Given the description of an element on the screen output the (x, y) to click on. 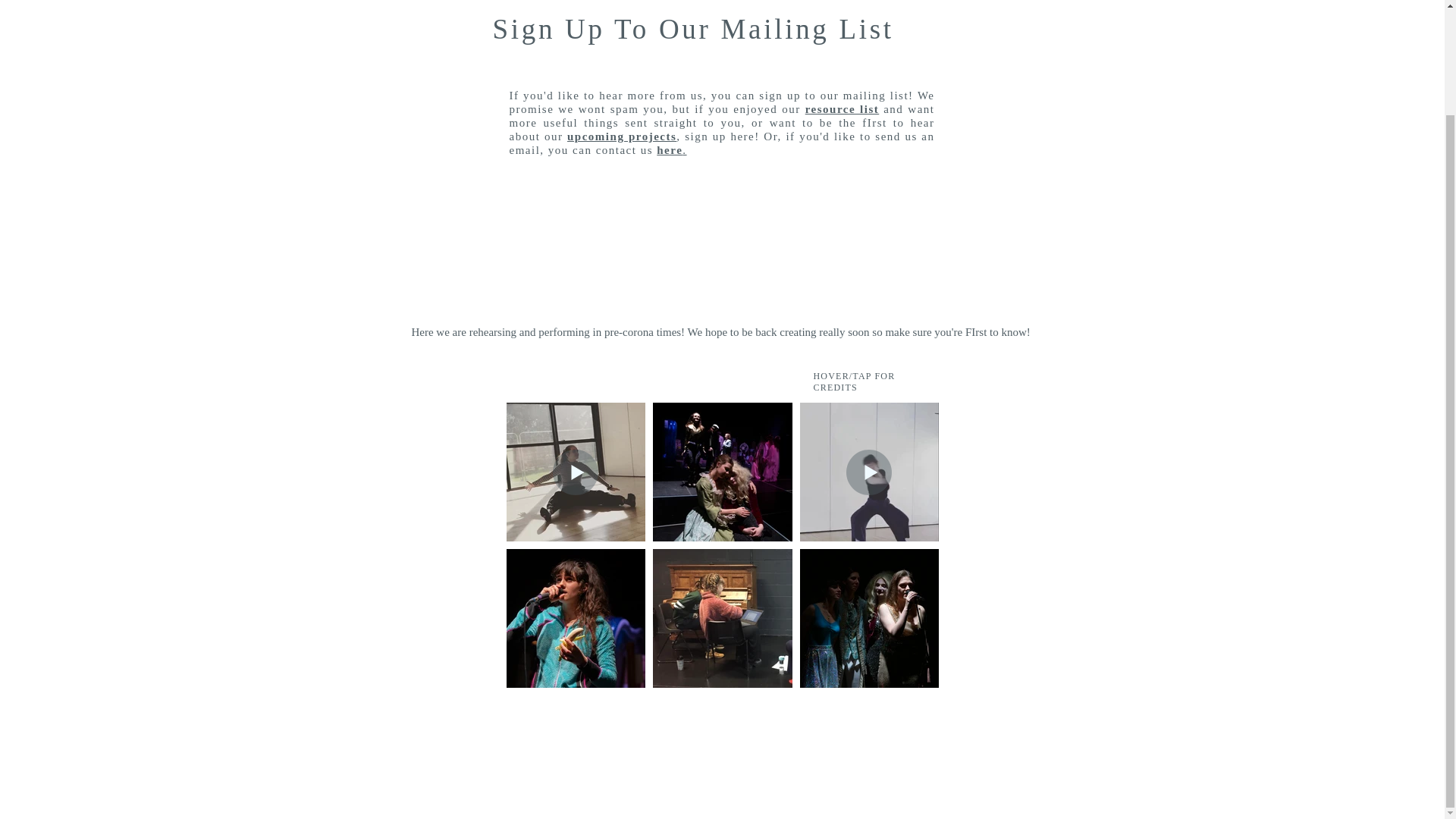
upcoming projects (622, 136)
here (669, 150)
resource list (842, 109)
